Given the description of an element on the screen output the (x, y) to click on. 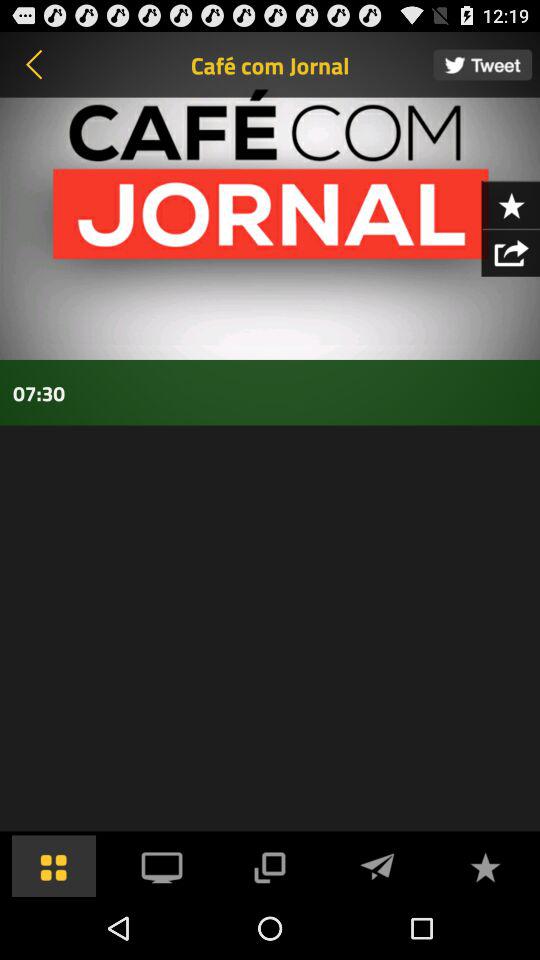
add to favorites (485, 865)
